Given the description of an element on the screen output the (x, y) to click on. 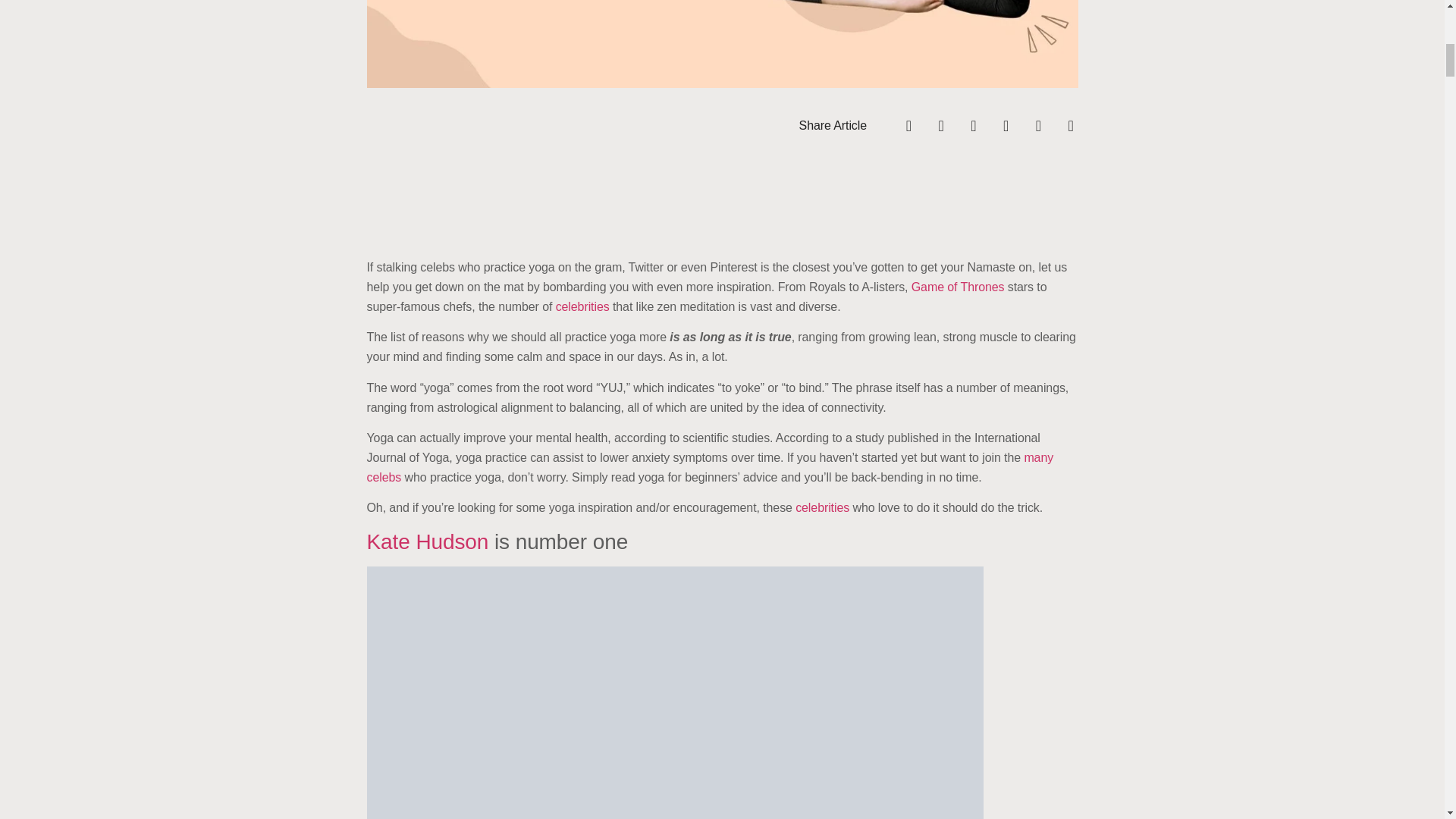
celebrities (820, 507)
many celebs (710, 467)
celebrities (583, 306)
Game of Thrones (957, 286)
Kate Hudson (427, 541)
